Given the description of an element on the screen output the (x, y) to click on. 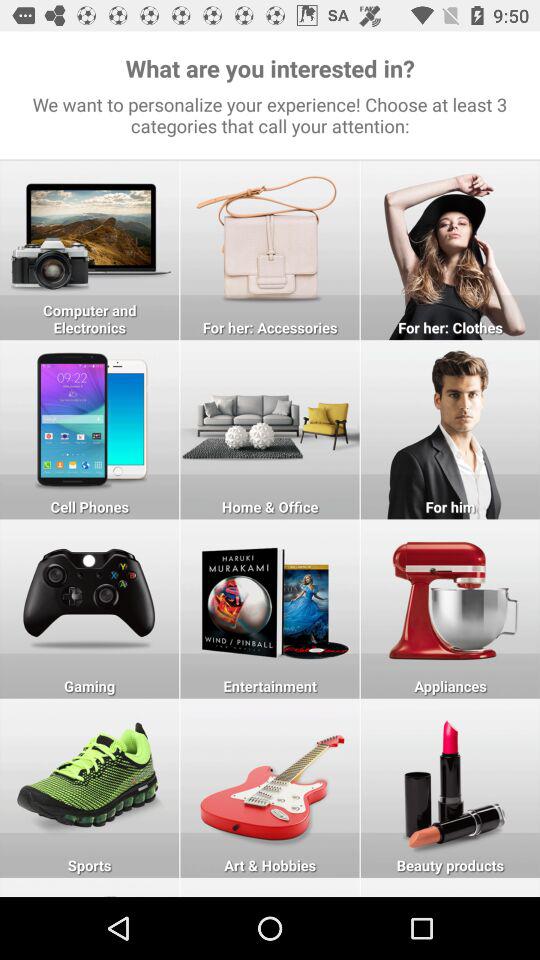
select for him (450, 429)
